Given the description of an element on the screen output the (x, y) to click on. 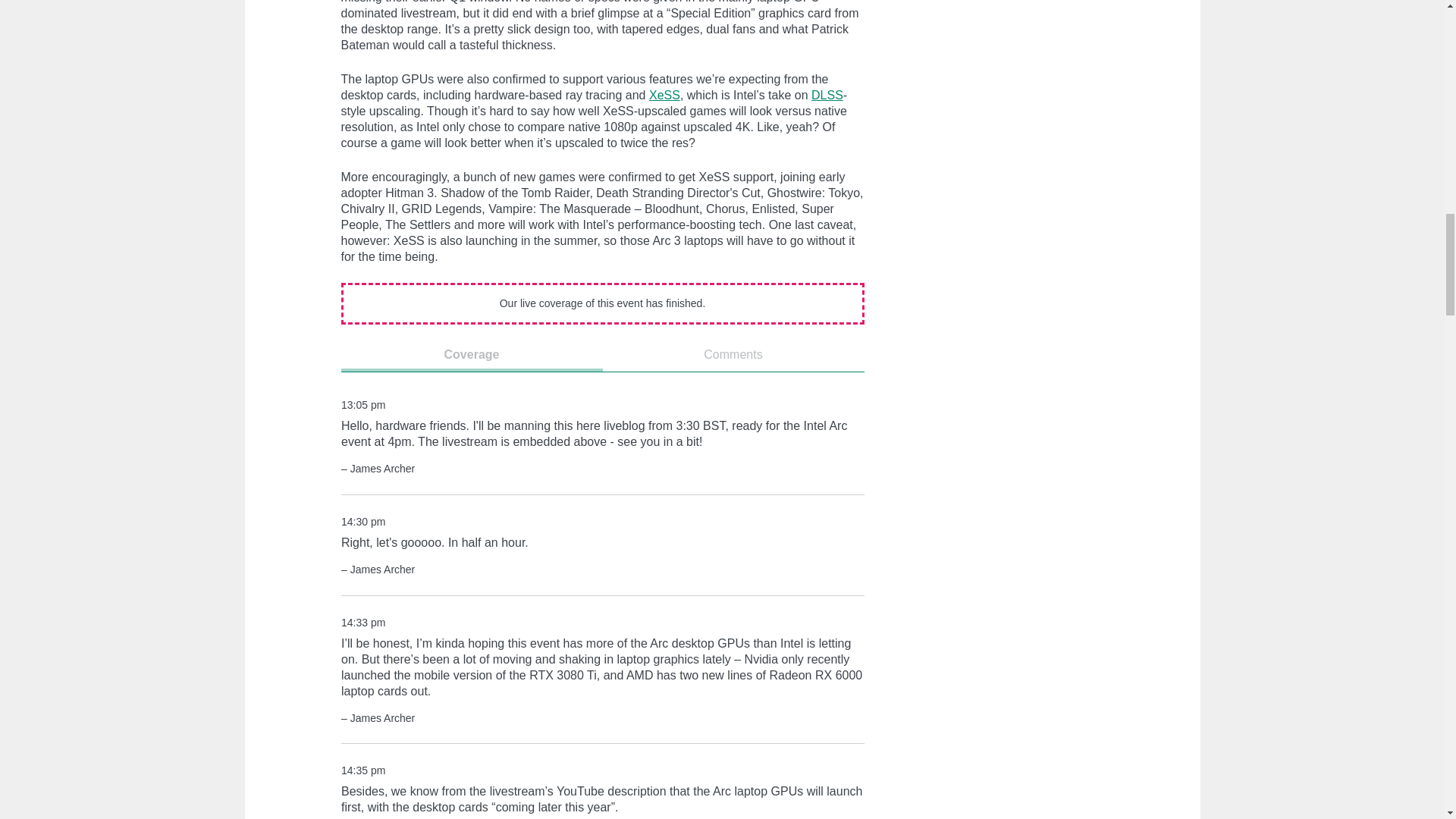
DLSS (826, 94)
Comments (732, 359)
Coverage (471, 359)
XeSS (664, 94)
